Given the description of an element on the screen output the (x, y) to click on. 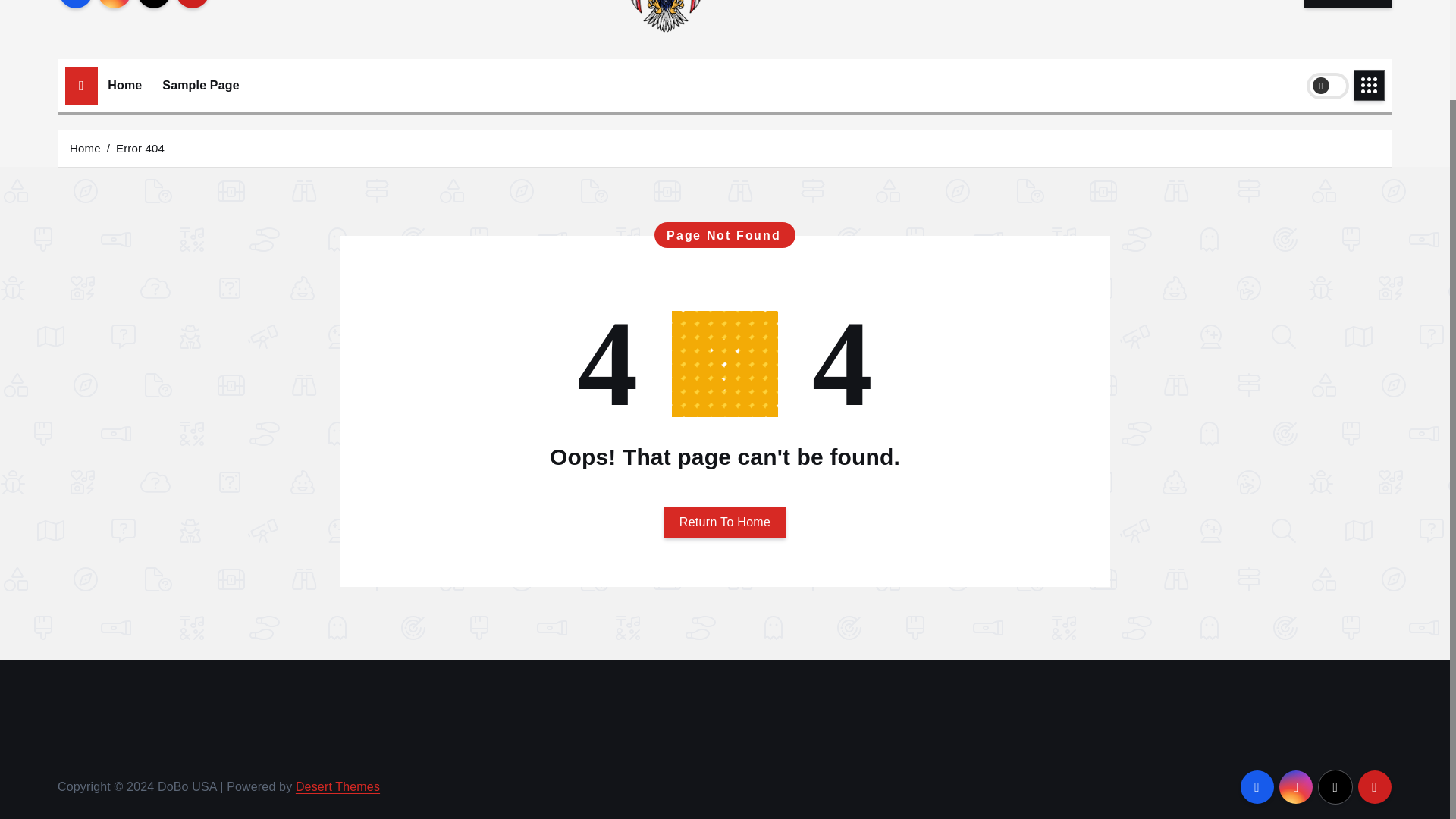
Error 404 (140, 146)
Return To Home (724, 522)
Home (84, 146)
Home (124, 85)
Desert Themes (337, 786)
Subscribe (1347, 3)
Home (124, 85)
Sample Page (200, 85)
